Given the description of an element on the screen output the (x, y) to click on. 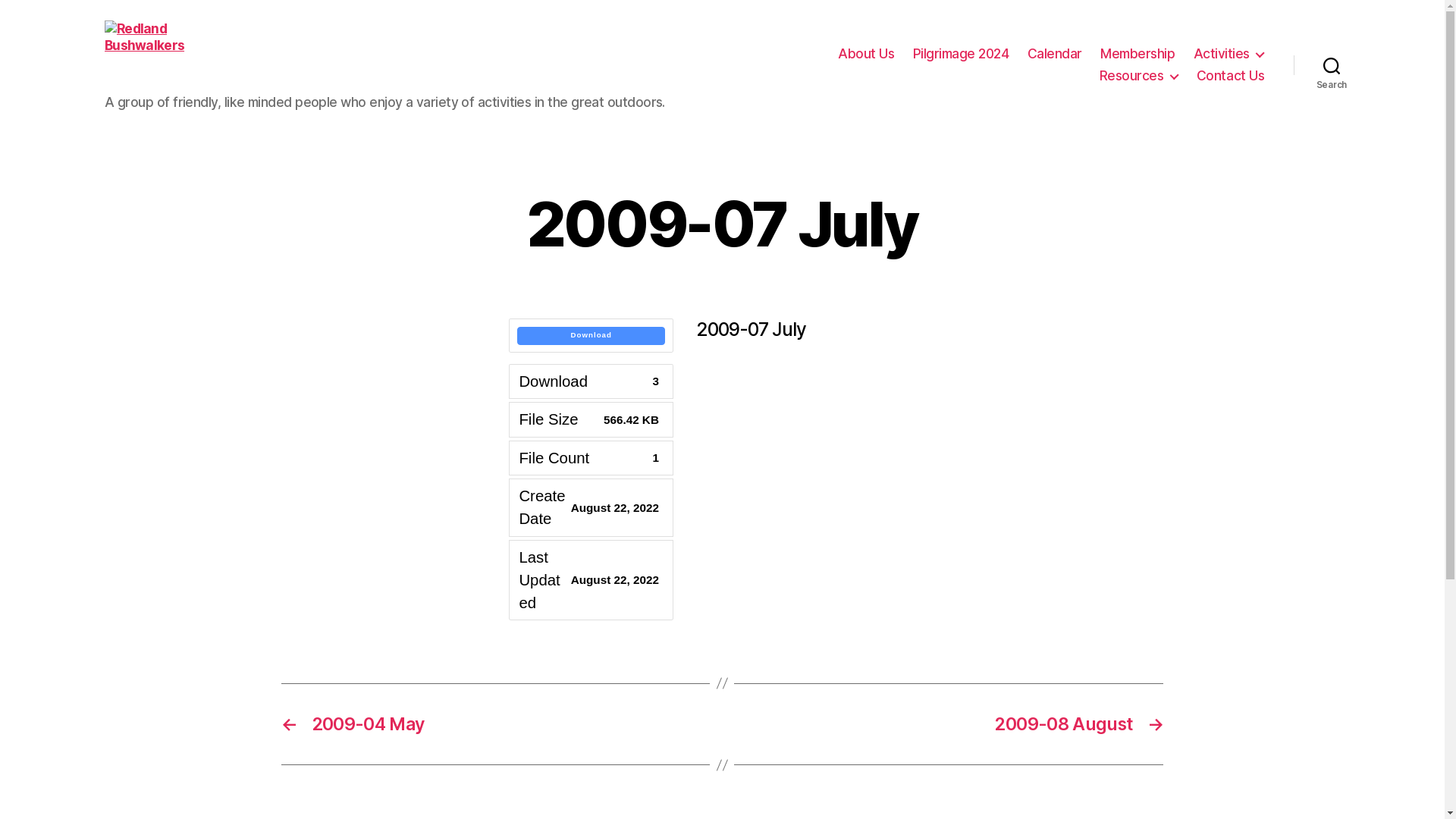
Pilgrimage 2024 Element type: text (961, 54)
Activities Element type: text (1228, 54)
Resources Element type: text (1138, 76)
Search Element type: text (1331, 65)
About Us Element type: text (865, 54)
Download Element type: text (591, 335)
Membership Element type: text (1137, 54)
Calendar Element type: text (1054, 54)
Contact Us Element type: text (1230, 76)
